Given the description of an element on the screen output the (x, y) to click on. 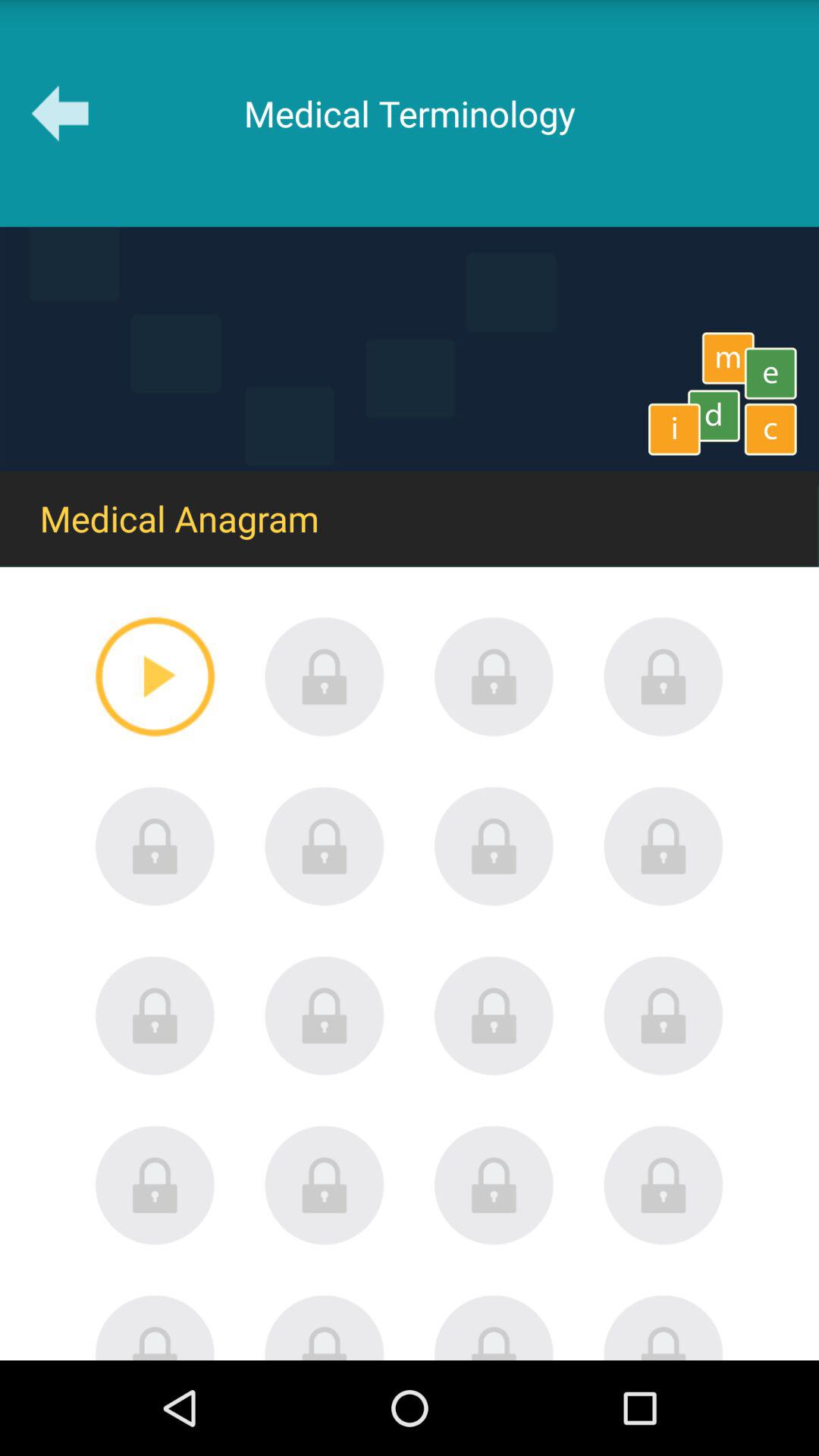
menu is locked (154, 846)
